Given the description of an element on the screen output the (x, y) to click on. 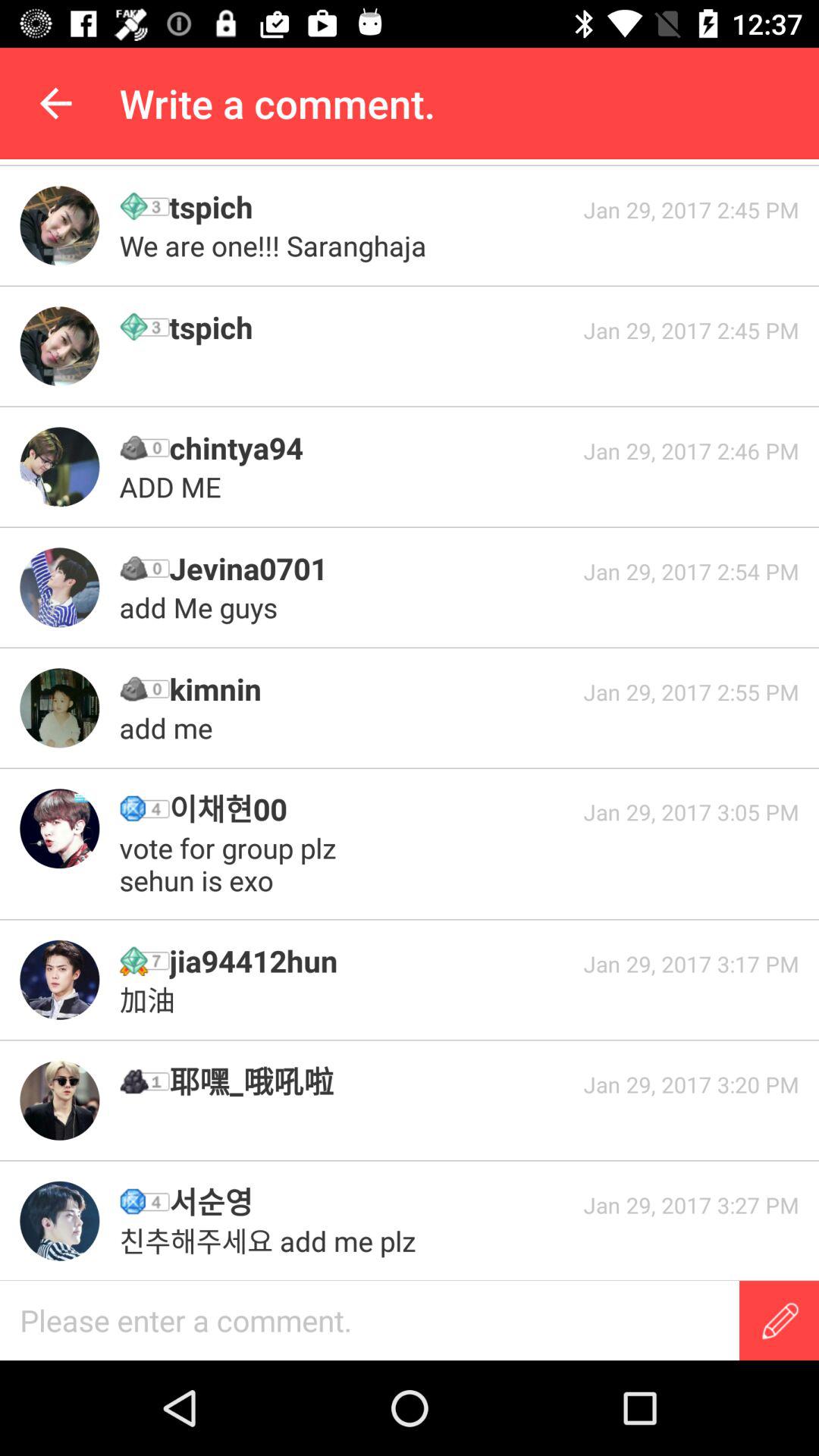
go to profile (59, 1100)
